Given the description of an element on the screen output the (x, y) to click on. 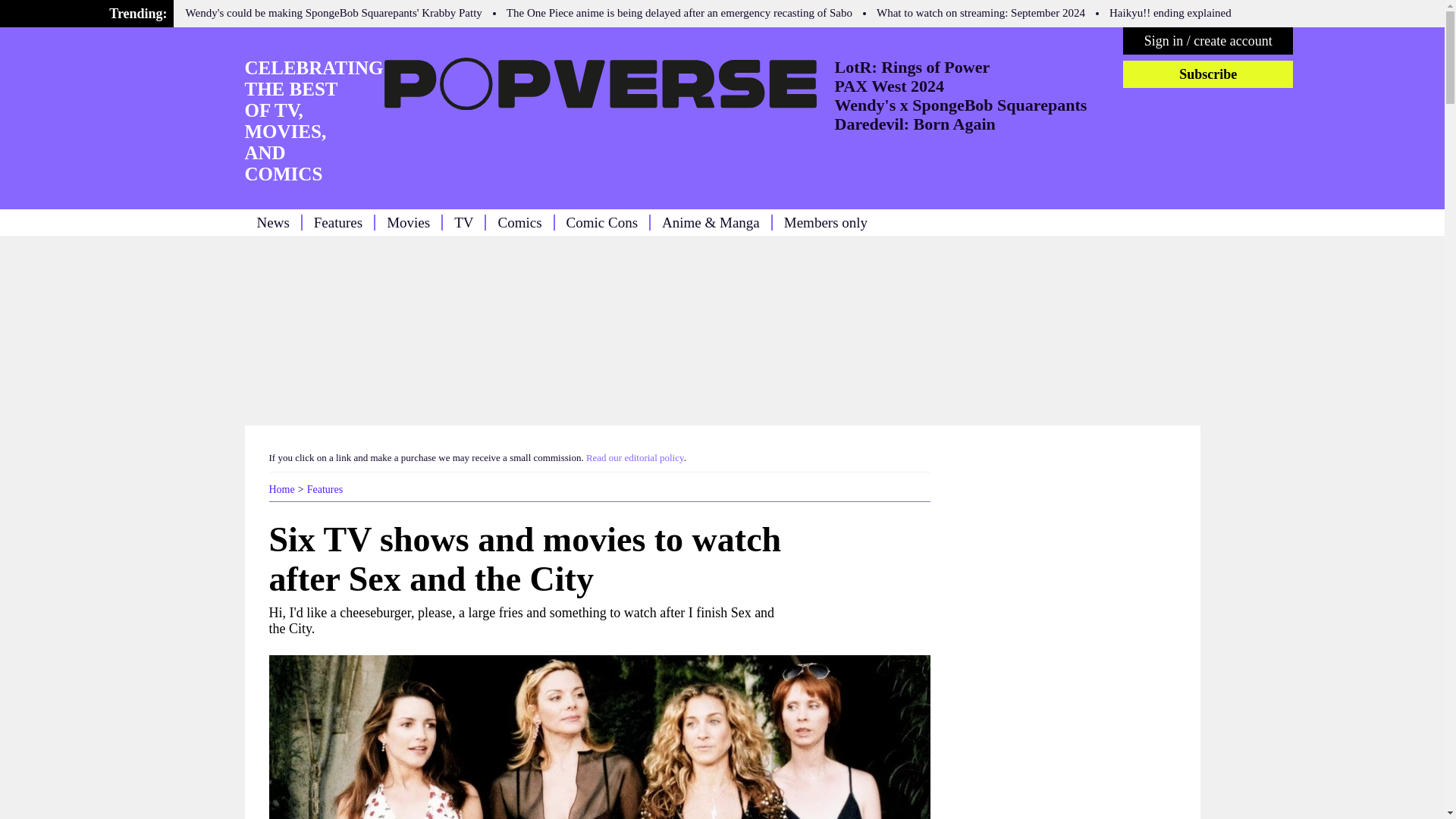
Features (324, 489)
Comic Cons (601, 222)
Features (338, 222)
Read our editorial policy (635, 457)
Wendy's could be making SpongeBob Squarepants' Krabby Patty (333, 12)
Features (324, 489)
Subscribe (1207, 73)
Haikyu!! ending explained (1170, 12)
Home (280, 489)
What to watch on streaming: September 2024 (980, 12)
